Given the description of an element on the screen output the (x, y) to click on. 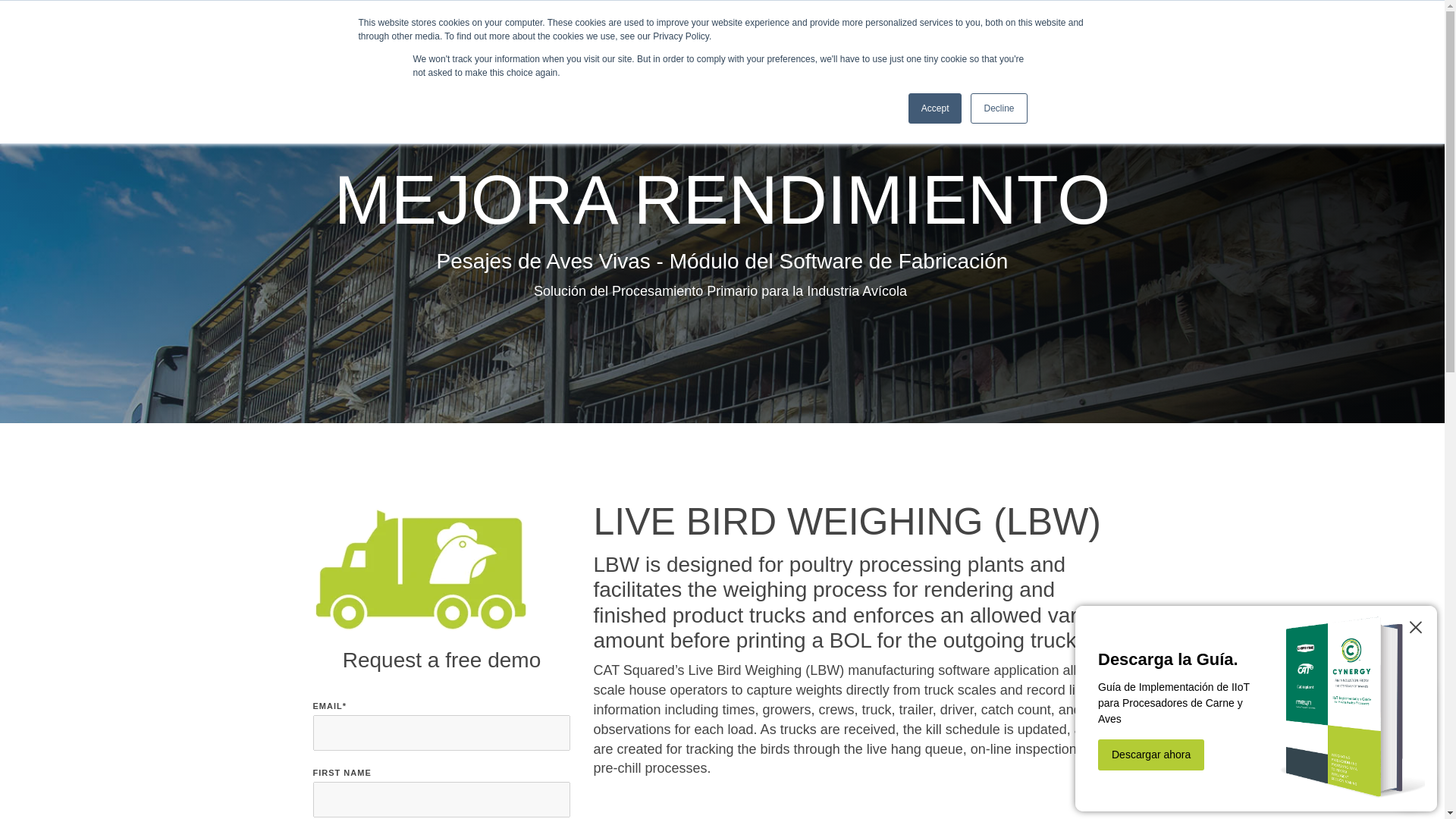
Accept (935, 108)
Popup CTA (1256, 708)
Decline (998, 108)
